Given the description of an element on the screen output the (x, y) to click on. 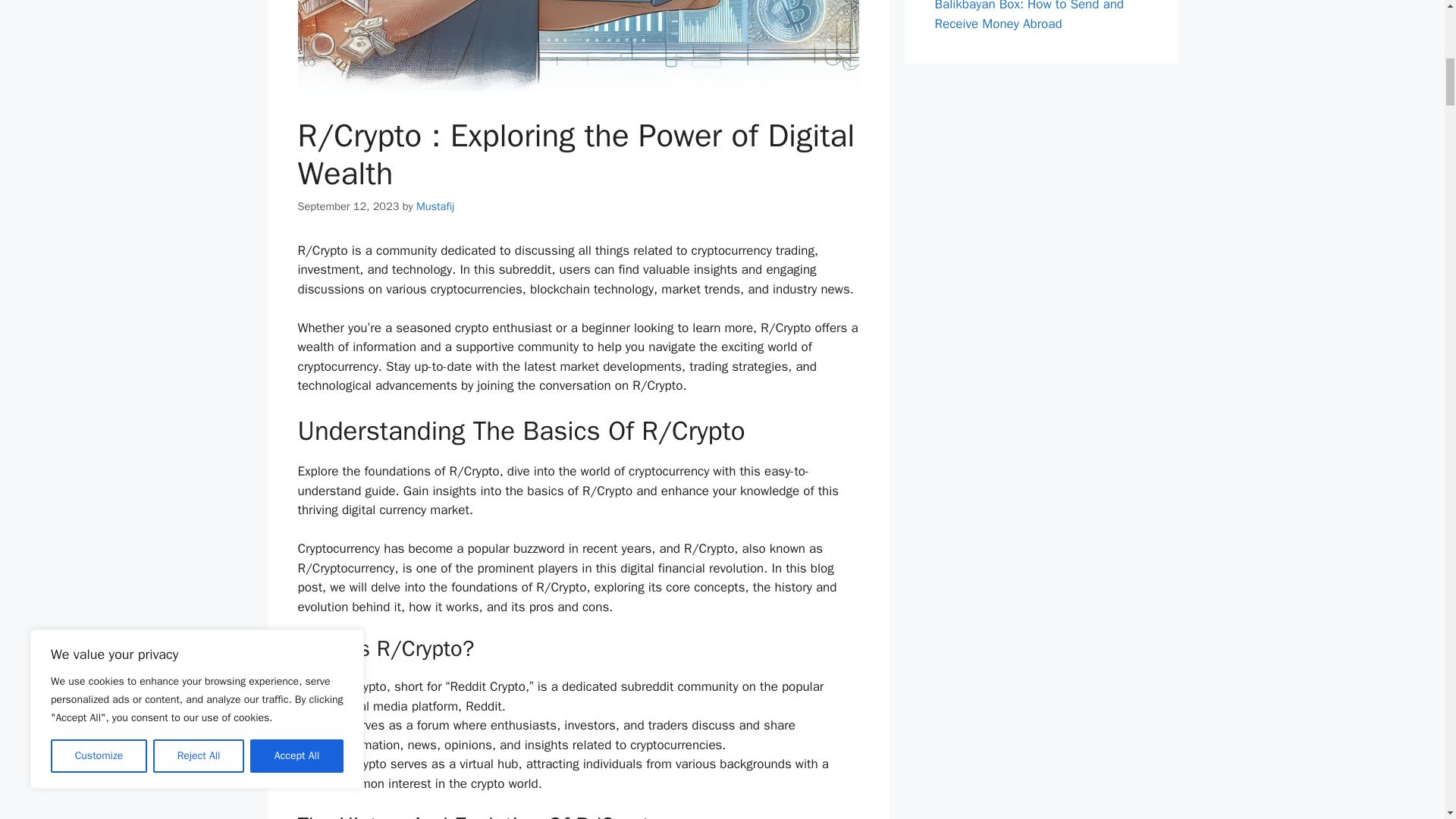
Mustafij (435, 205)
View all posts by Mustafij (435, 205)
